Given the description of an element on the screen output the (x, y) to click on. 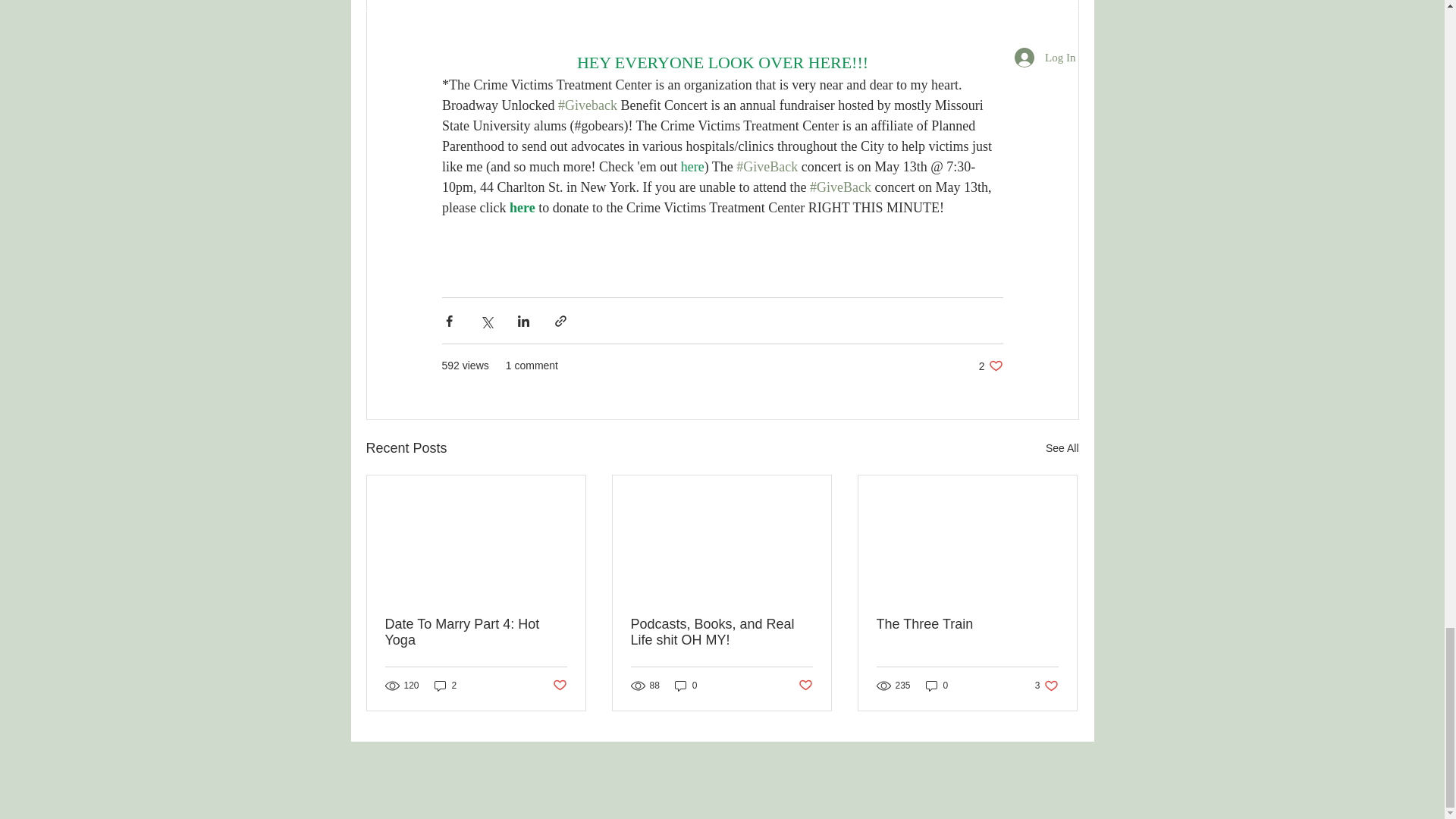
here (521, 207)
Post not marked as liked (558, 685)
Date To Marry Part 4: Hot Yoga (476, 632)
See All (1061, 448)
2 (445, 685)
here (691, 166)
